Given the description of an element on the screen output the (x, y) to click on. 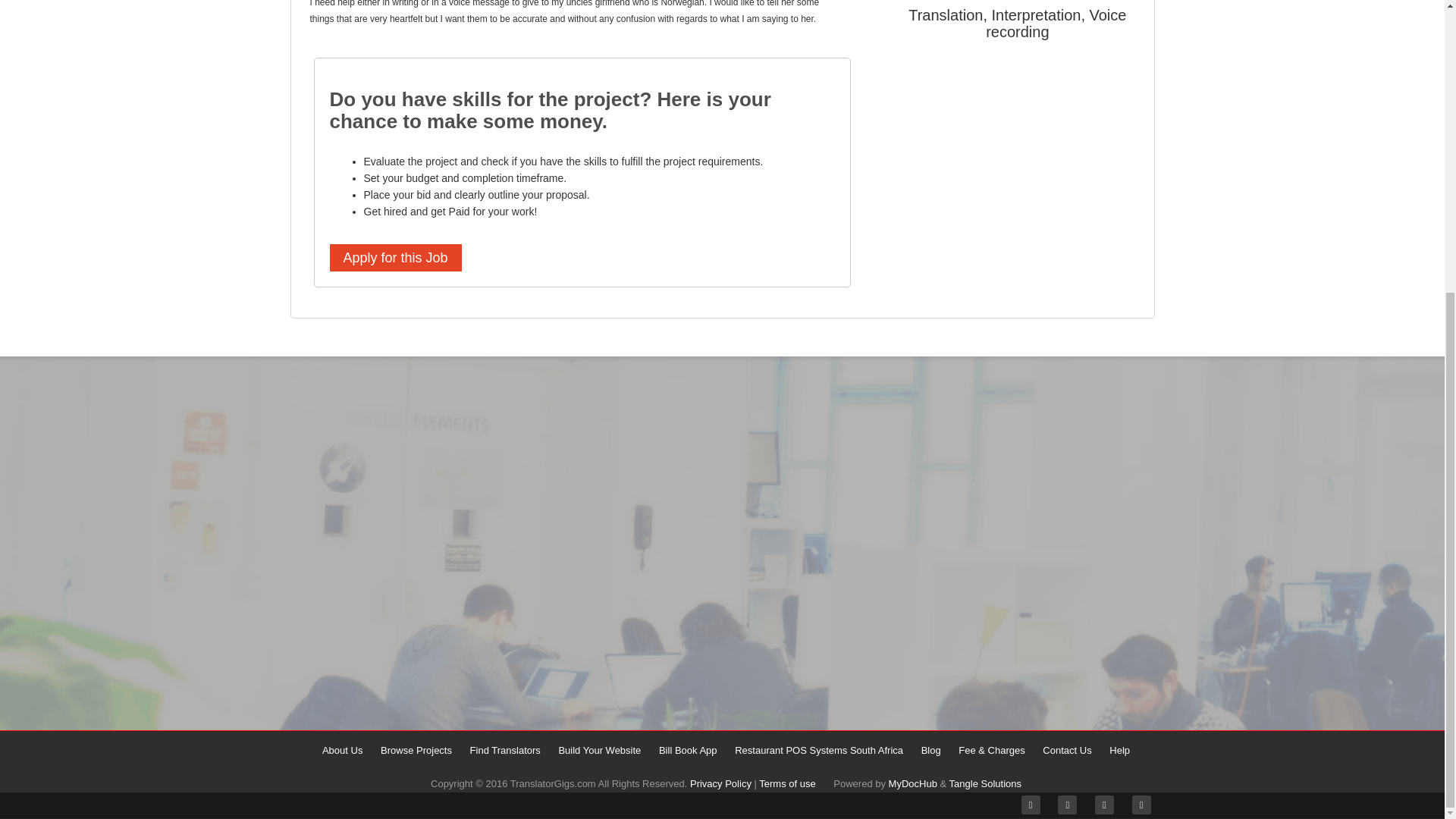
MyDocHub (912, 783)
Contact Us (1066, 749)
Build Your Website (598, 749)
Tangle Solutions (985, 783)
Help (1119, 749)
About Us (341, 749)
Find Translators (505, 749)
Restaurant POS Systems South Africa (818, 749)
Bill Book App (688, 749)
Terms of use (786, 783)
